Given the description of an element on the screen output the (x, y) to click on. 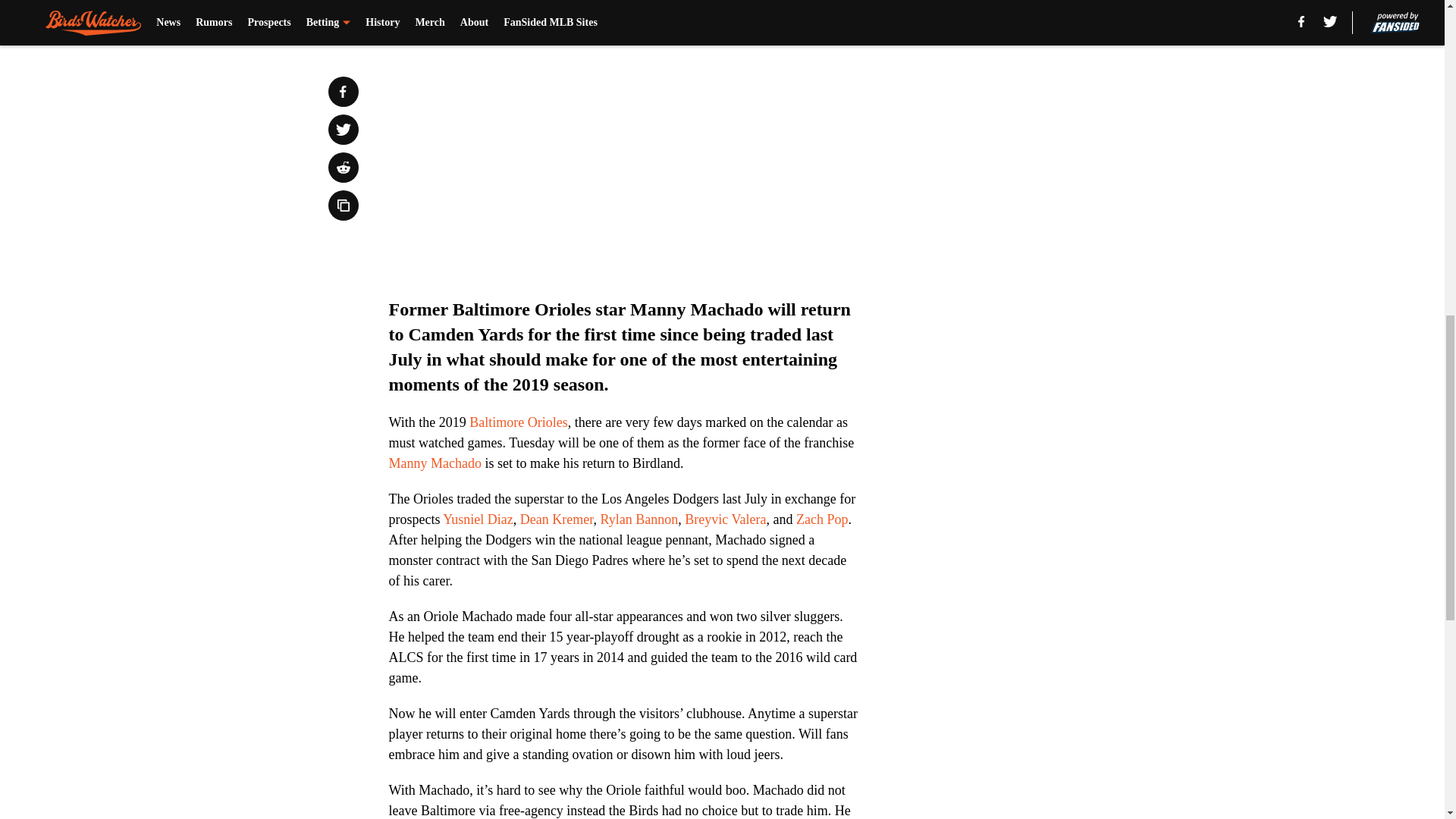
Yusniel Diaz (477, 519)
Manny Machado (434, 462)
Baltimore Orioles (517, 421)
Rylan Bannon (638, 519)
 Dean Kremer (554, 519)
Zach Pop (821, 519)
Breyvic Valera (724, 519)
